Given the description of an element on the screen output the (x, y) to click on. 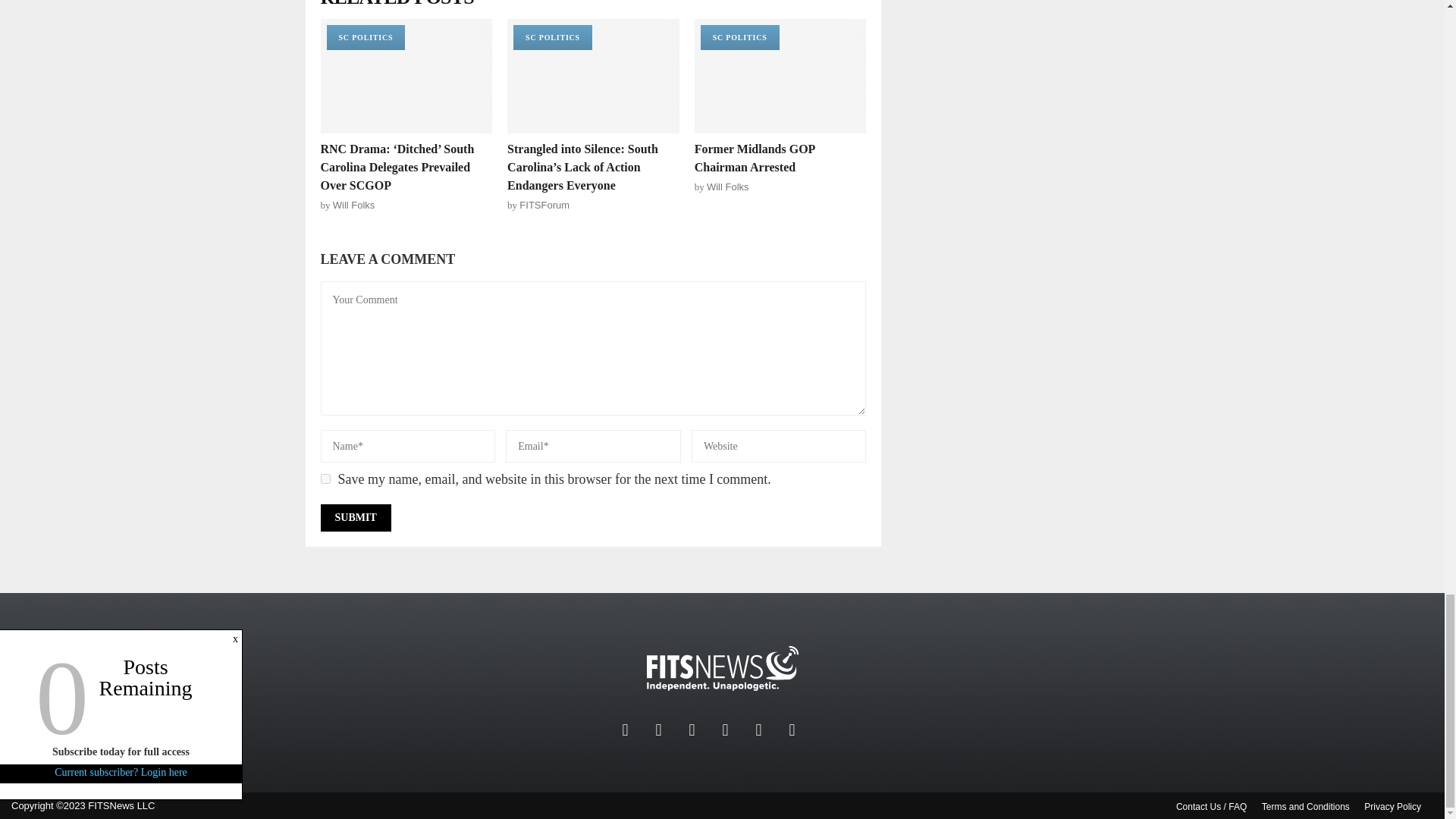
Submit (355, 517)
yes (325, 479)
